Given the description of an element on the screen output the (x, y) to click on. 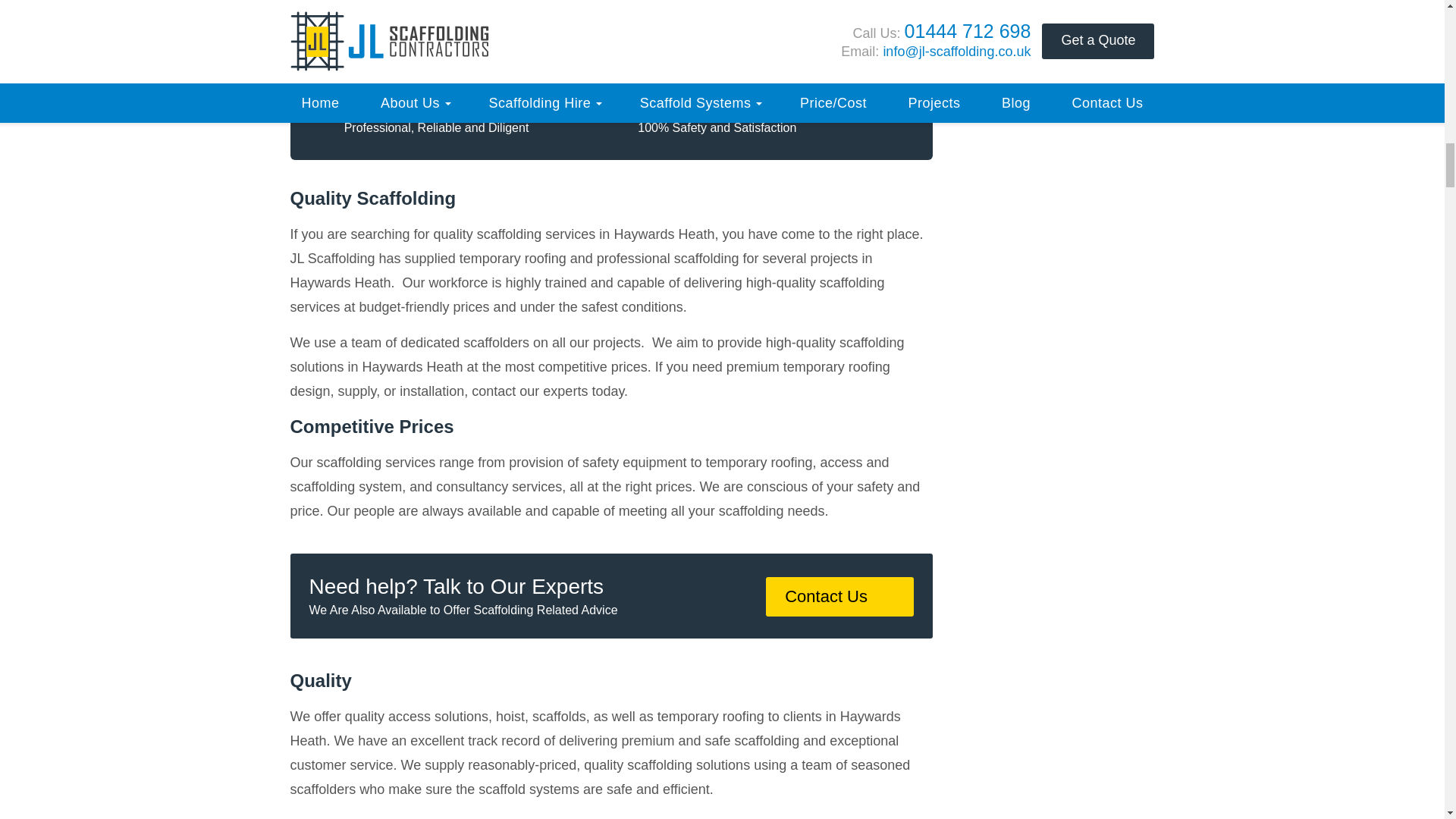
scaffolding (752, 101)
scaffolding (752, 101)
Contact Us (839, 596)
